Given the description of an element on the screen output the (x, y) to click on. 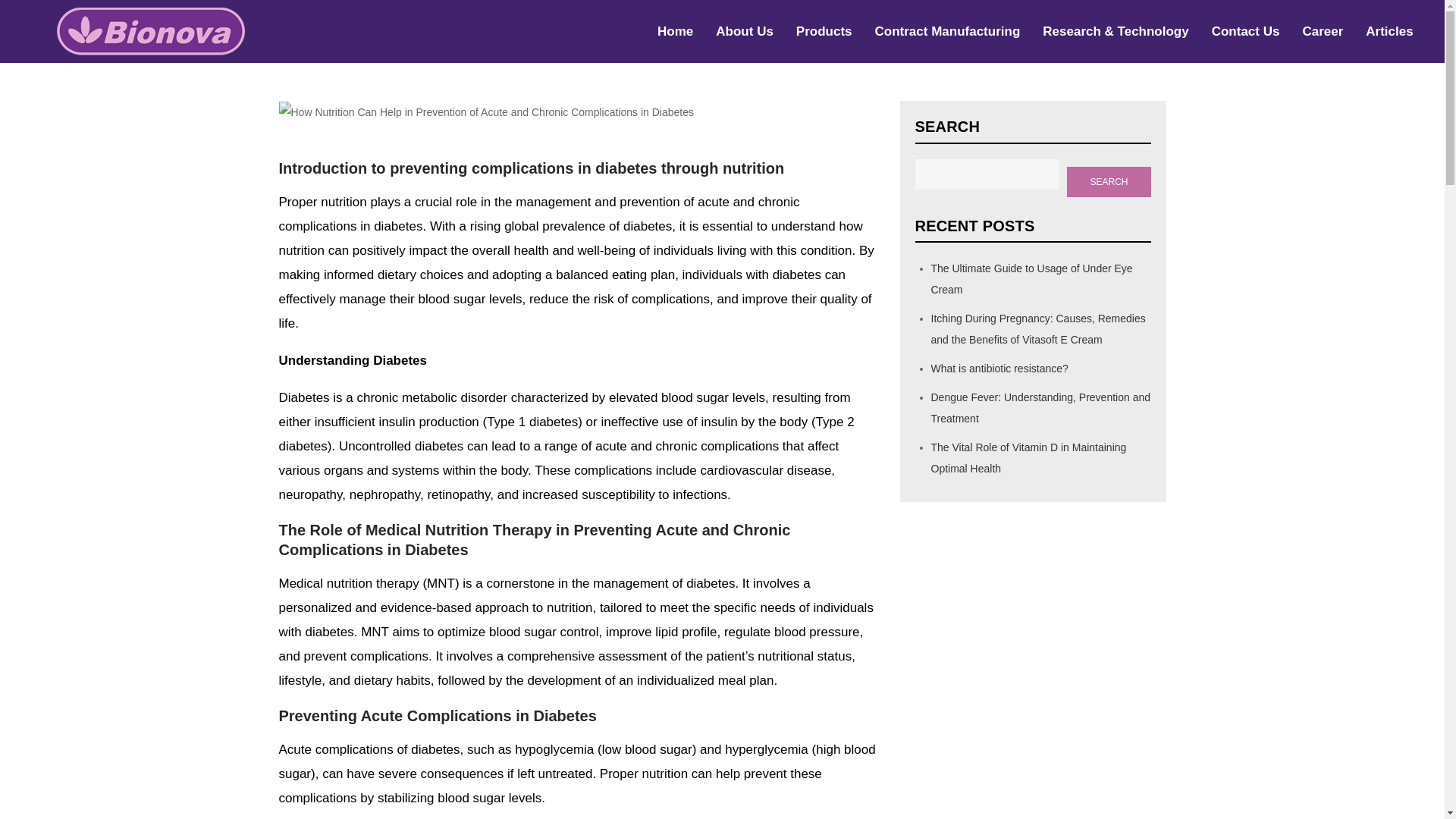
Home (675, 31)
SEARCH (1108, 182)
Contract Manufacturing (947, 31)
Products (823, 31)
Career (1322, 31)
About Us (744, 31)
Dengue Fever: Understanding, Prevention and Treatment (1041, 408)
Articles (1388, 31)
What is antibiotic resistance? (999, 368)
The Vital Role of Vitamin D in Maintaining Optimal Health (1028, 458)
The Ultimate Guide to Usage of Under Eye Cream (1031, 278)
Contact Us (1245, 31)
